Given the description of an element on the screen output the (x, y) to click on. 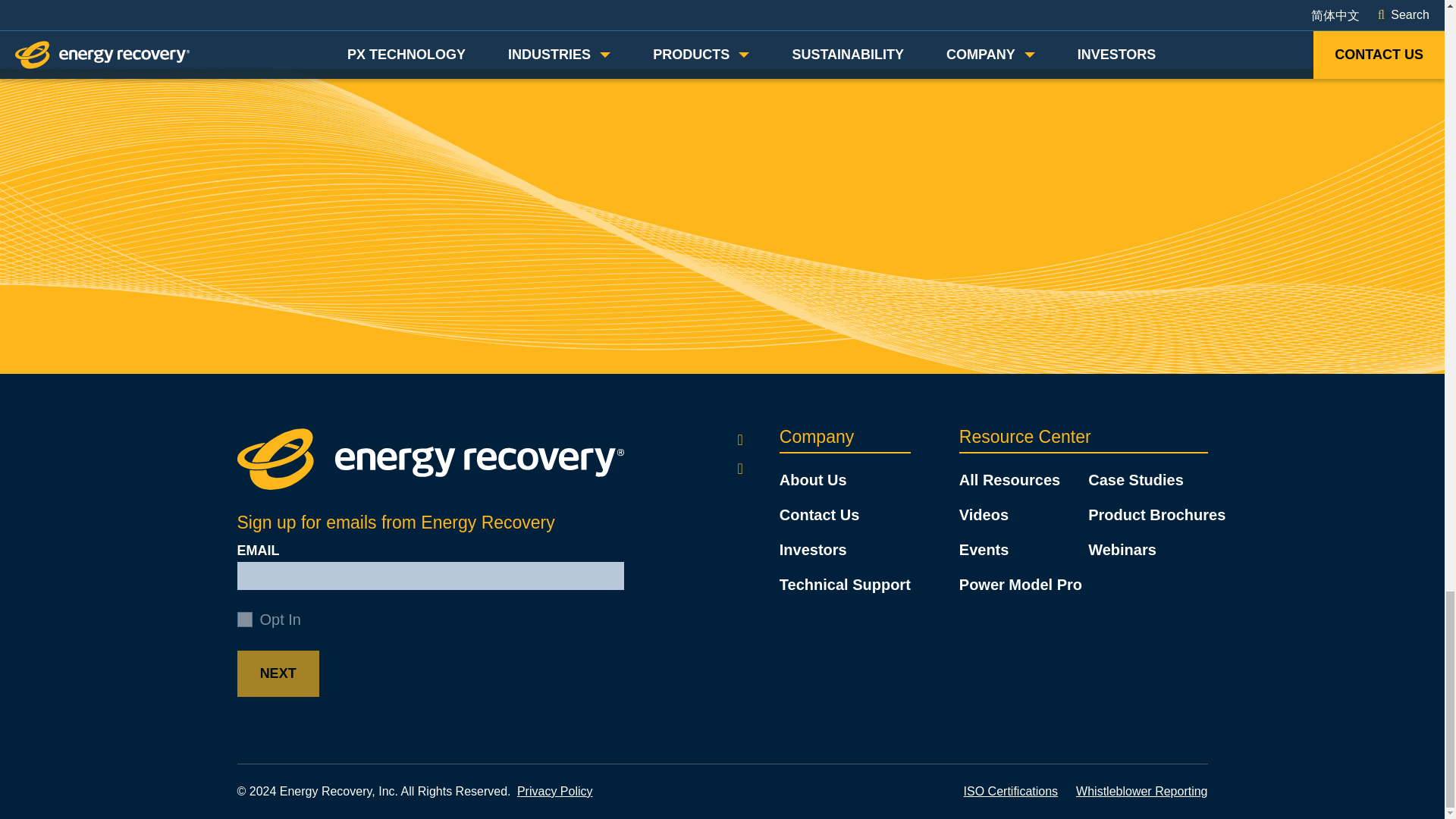
Next (276, 673)
1 (243, 619)
